Given the description of an element on the screen output the (x, y) to click on. 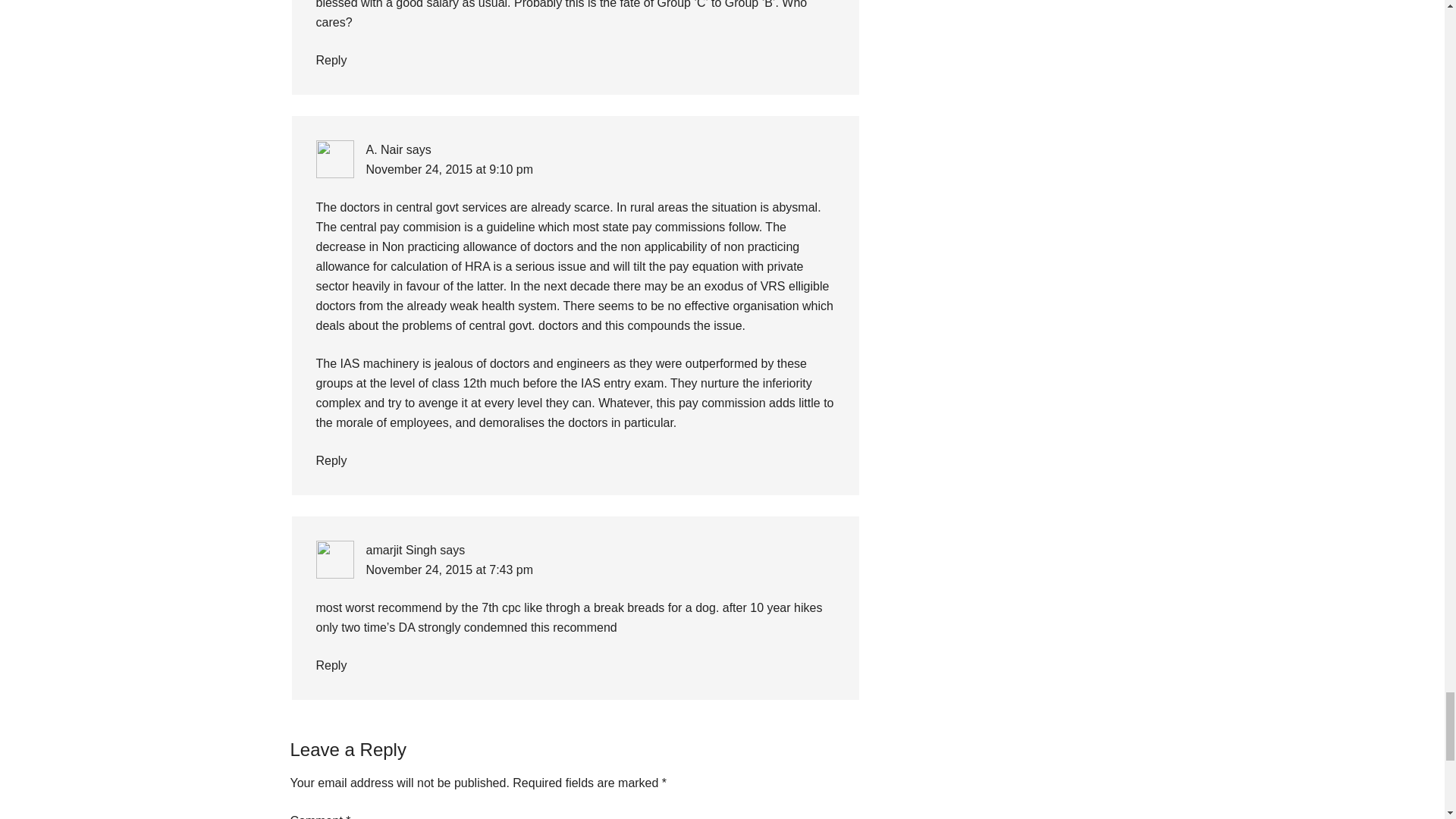
Reply (330, 460)
November 24, 2015 at 9:10 pm (448, 169)
Reply (330, 665)
November 24, 2015 at 7:43 pm (448, 569)
Reply (330, 60)
